Given the description of an element on the screen output the (x, y) to click on. 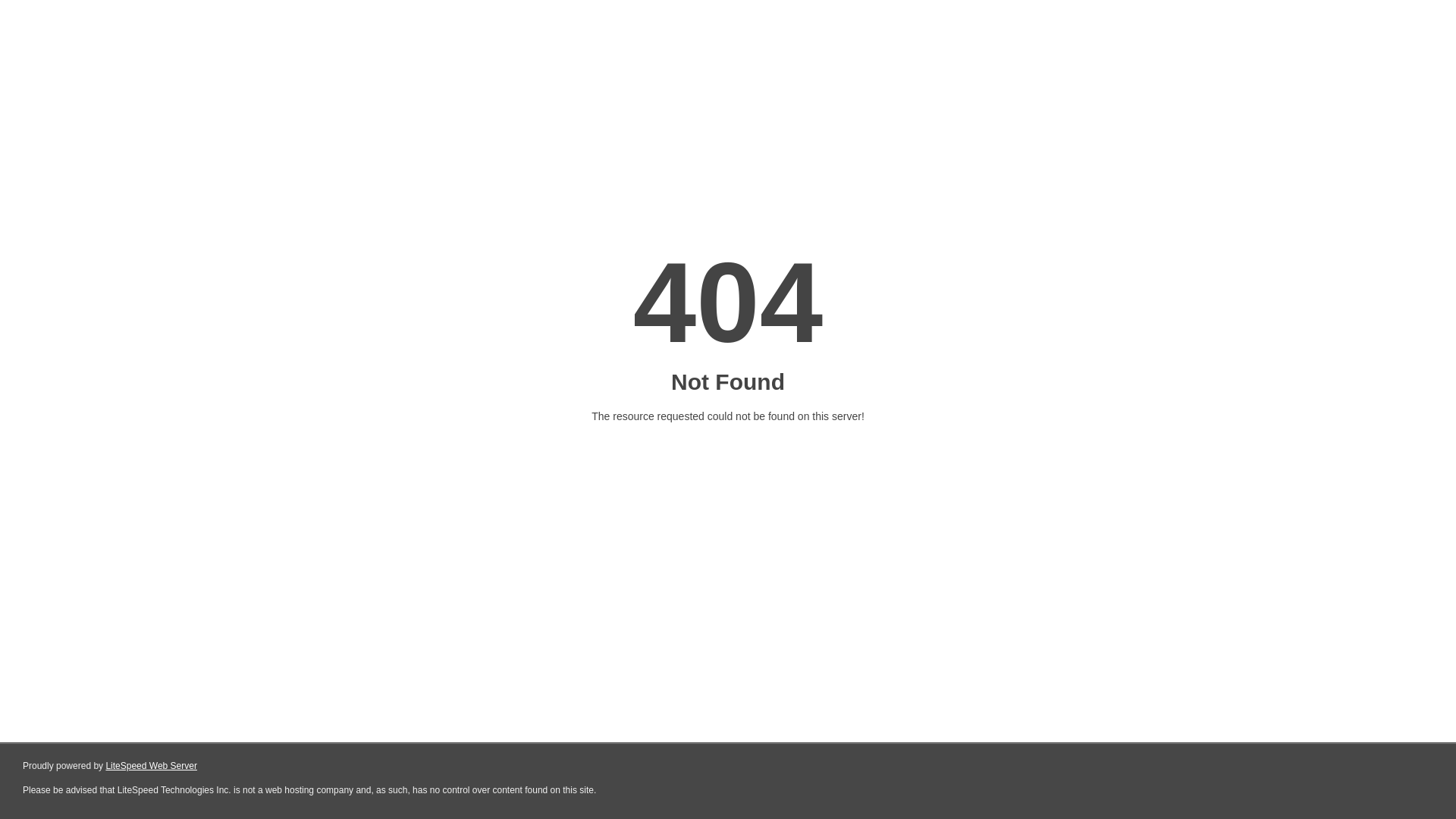
LiteSpeed Web Server Element type: text (151, 765)
